Given the description of an element on the screen output the (x, y) to click on. 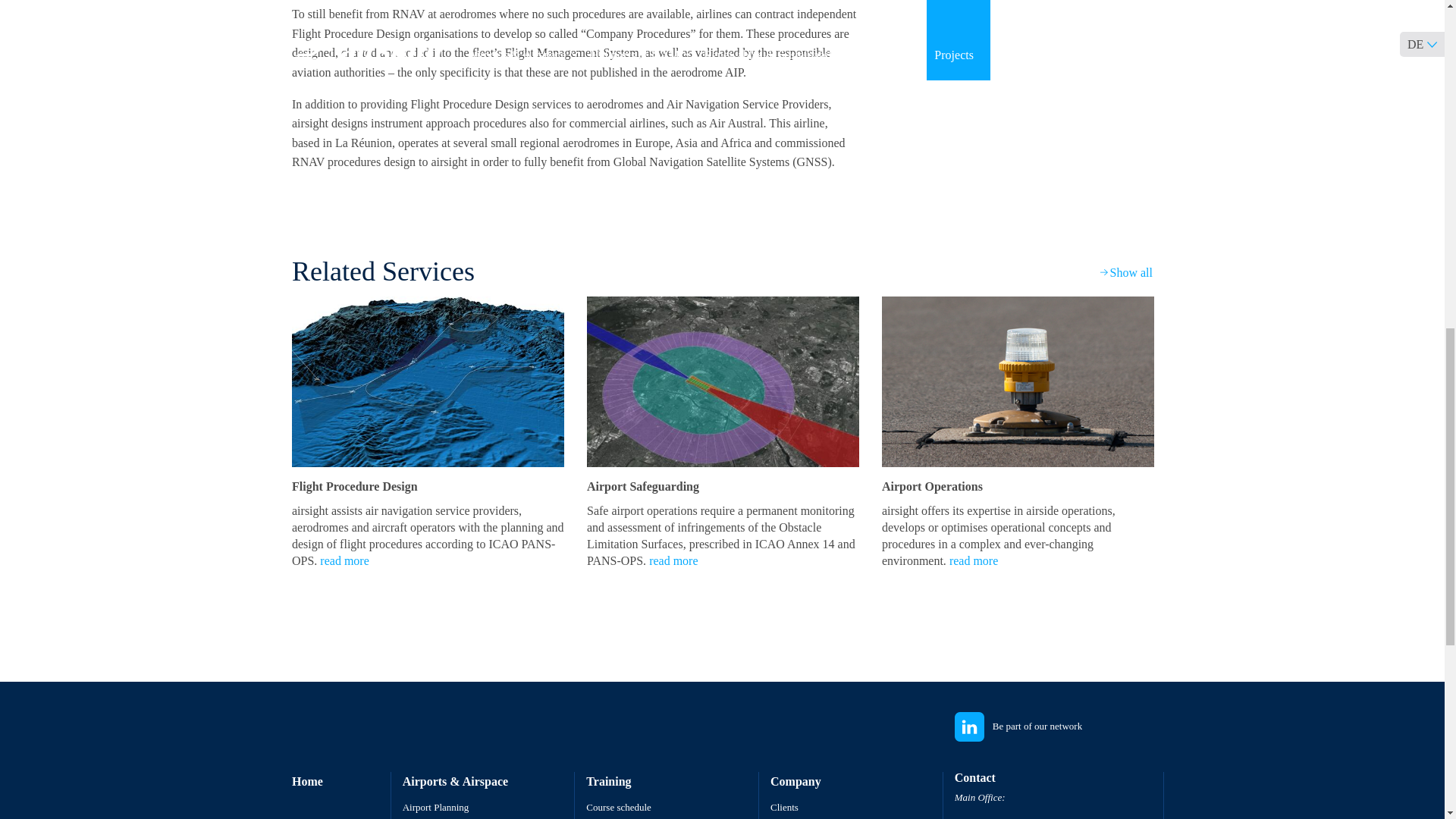
Company (795, 780)
Airport Planning (435, 807)
Flight Procedure Design (428, 391)
Airport Operations (1018, 381)
Airport Safeguarding (722, 391)
Course schedule (618, 807)
